Given the description of an element on the screen output the (x, y) to click on. 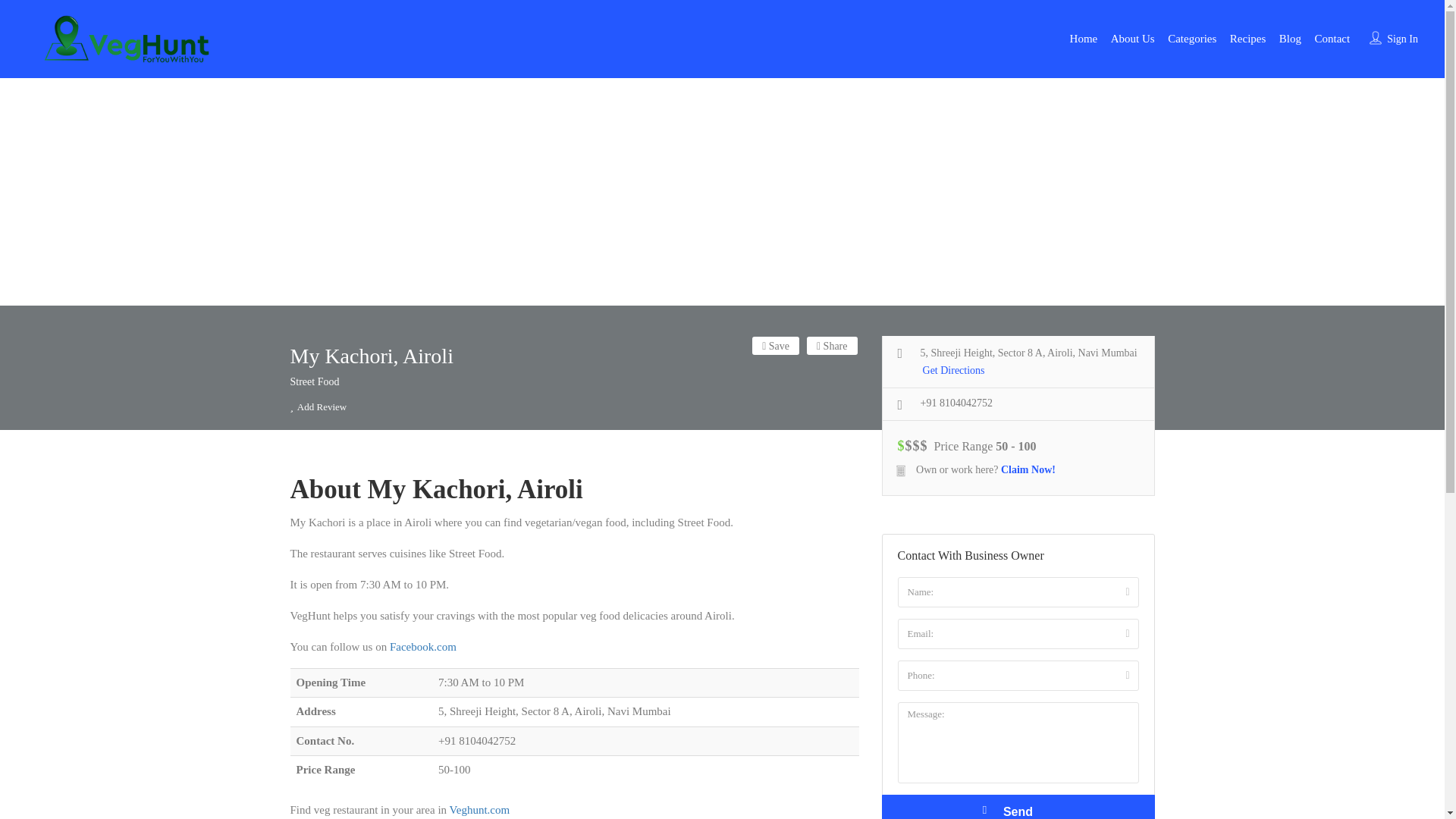
Veghunt.com (480, 809)
Sign In (1402, 39)
Home (1083, 37)
Save (775, 345)
Submit (413, 502)
Add Review (317, 406)
Categories (1191, 37)
Blog (1290, 37)
Share (831, 345)
Send (1018, 806)
Recipes (1247, 37)
Facebook.com (423, 646)
Get Directions (954, 371)
Contact (1331, 37)
